Given the description of an element on the screen output the (x, y) to click on. 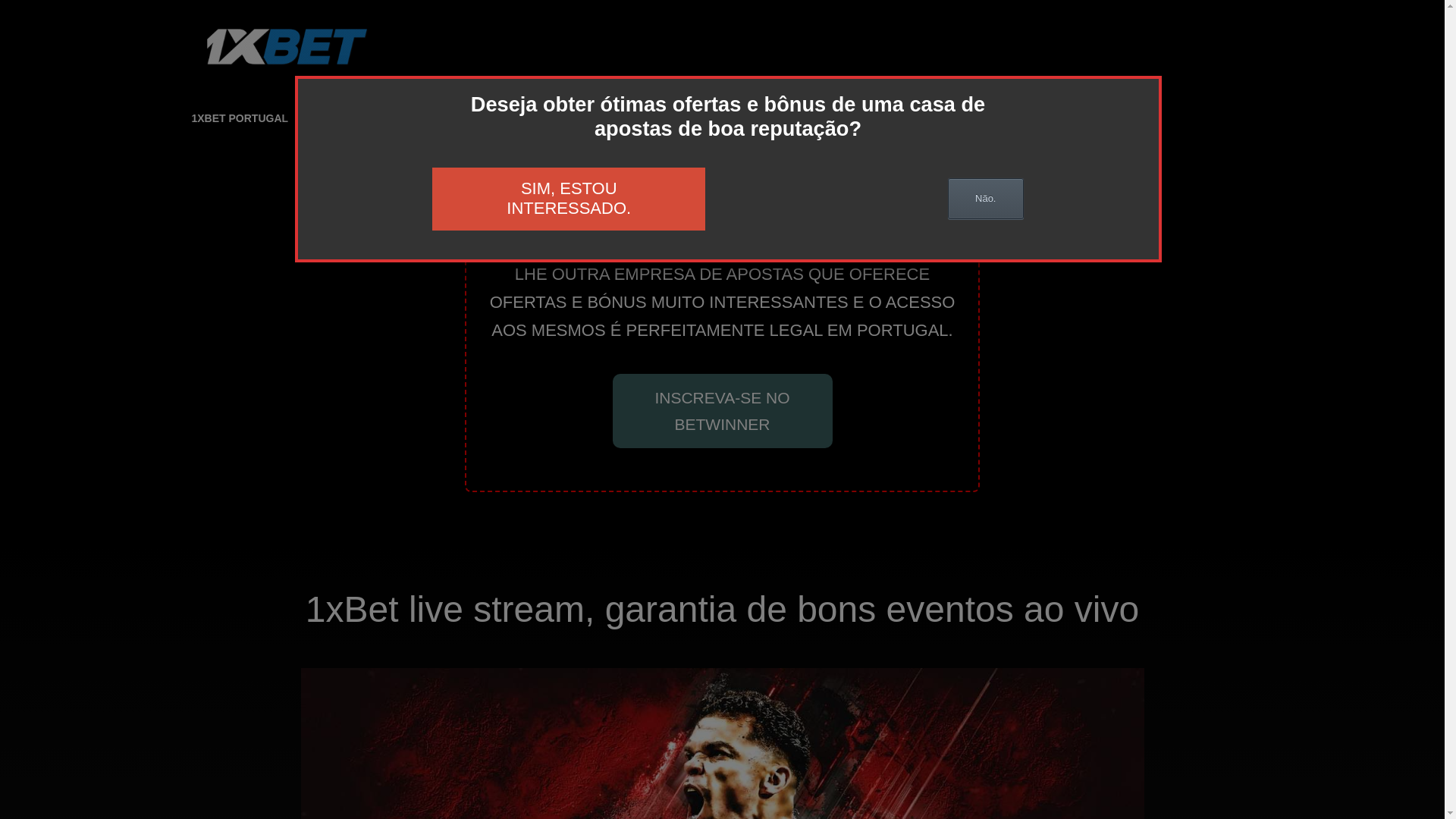
1XBET PORTUGAL Element type: text (239, 118)
SIM, ESTOU INTERESSADO. Element type: text (568, 198)
1XBET LIVE STREAM Element type: text (620, 118)
1XBET MOBILE APP Element type: text (485, 118)
INSCREVA-SE NO BETWINNER Element type: text (722, 410)
1XBET BONUS Element type: text (743, 118)
CODIGO PROMOCIONAL 1XBET Element type: text (893, 118)
1XBET APOSTAS ONLINE Element type: text (1070, 118)
1XBET REGISTO Element type: text (360, 118)
1XBET-ESPORTE.COM Element type: text (486, 58)
